Given the description of an element on the screen output the (x, y) to click on. 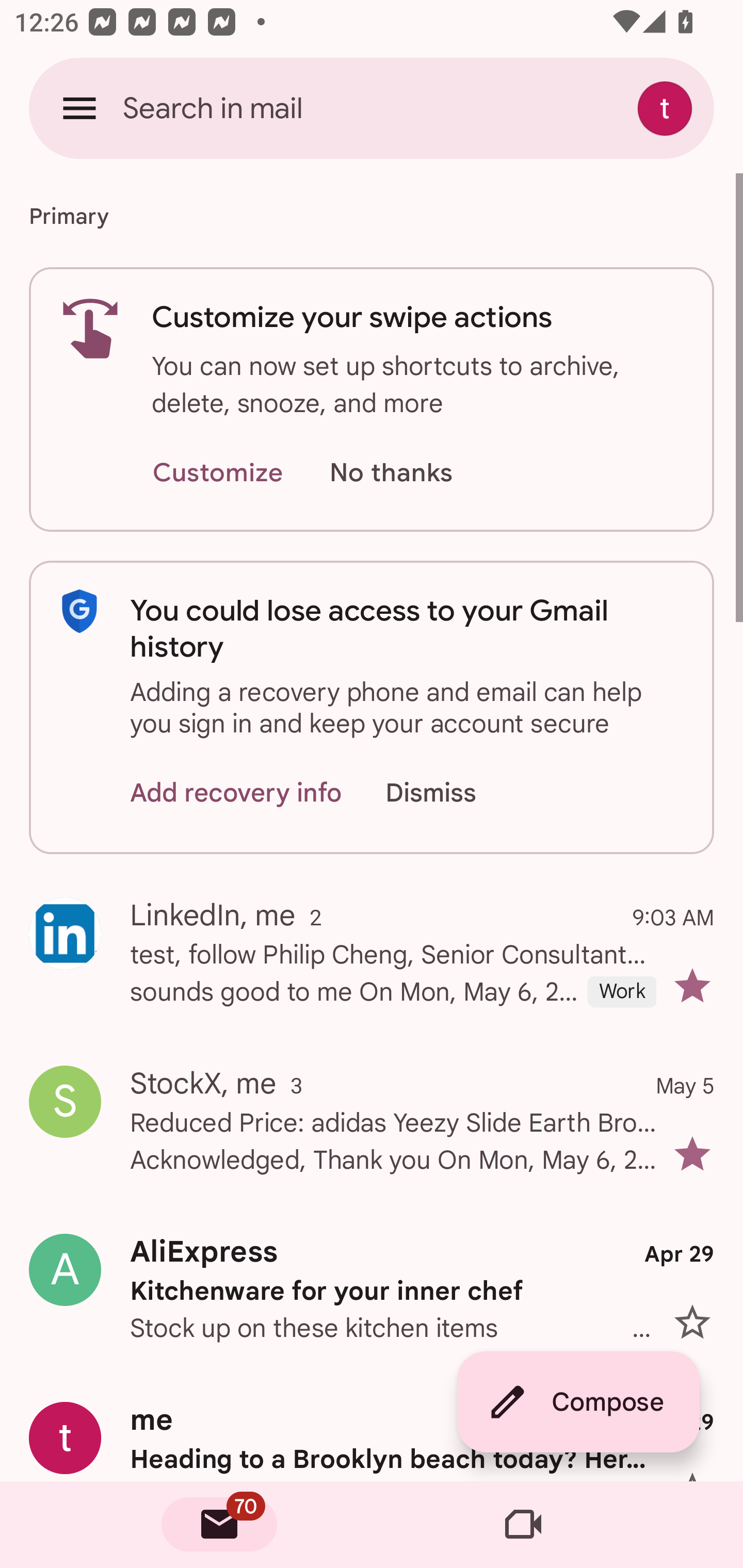
Open navigation drawer (79, 108)
Customize (217, 473)
No thanks (390, 473)
Add recovery info (235, 792)
Dismiss (449, 792)
Compose (577, 1401)
Meet (523, 1524)
